Given the description of an element on the screen output the (x, y) to click on. 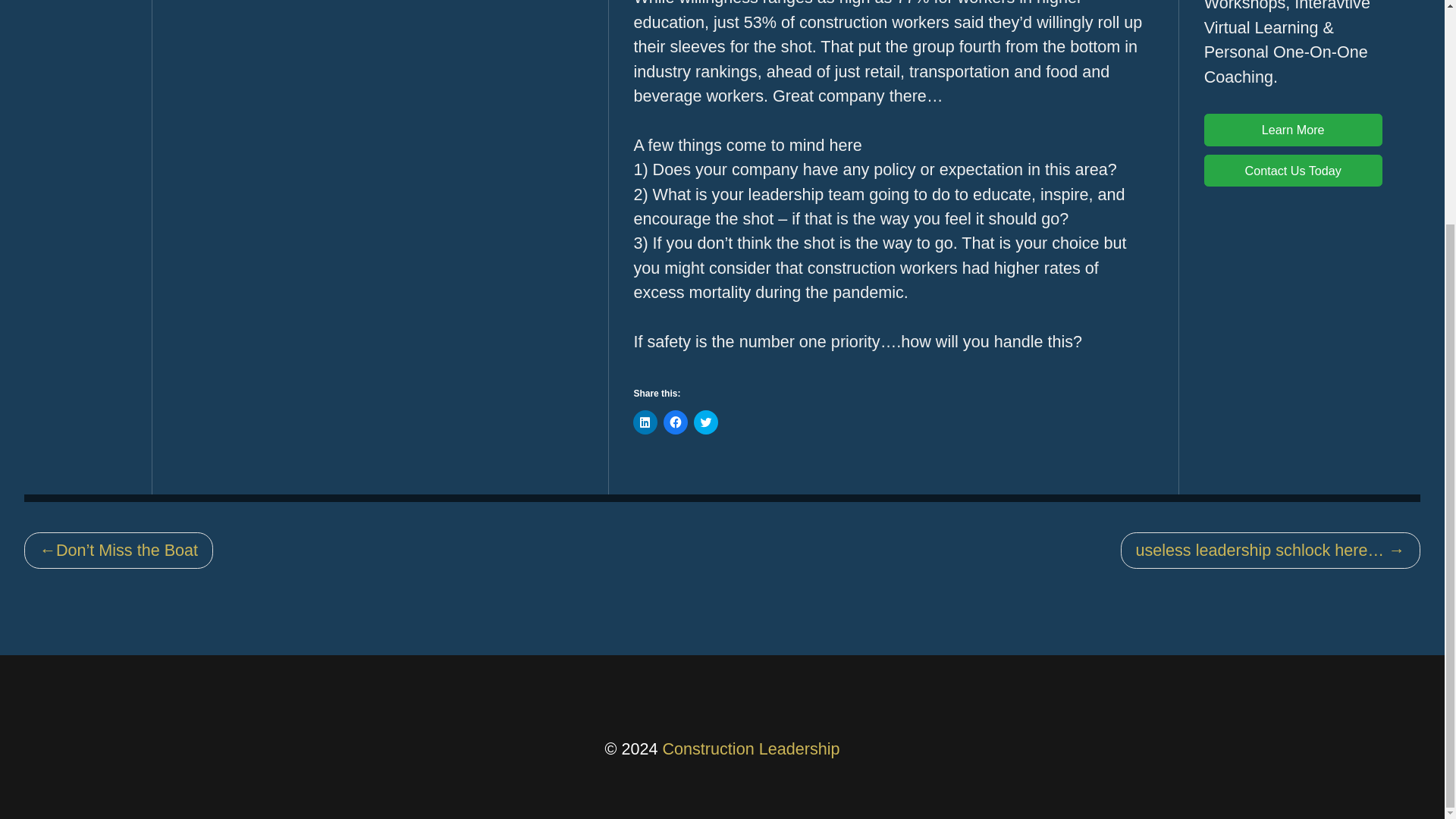
Click to share on LinkedIn (645, 422)
Construction Leadership (751, 748)
Click to share on Facebook (675, 422)
Learn More (1292, 129)
Click to share on Twitter (705, 422)
Contact Us Today (1292, 170)
